Given the description of an element on the screen output the (x, y) to click on. 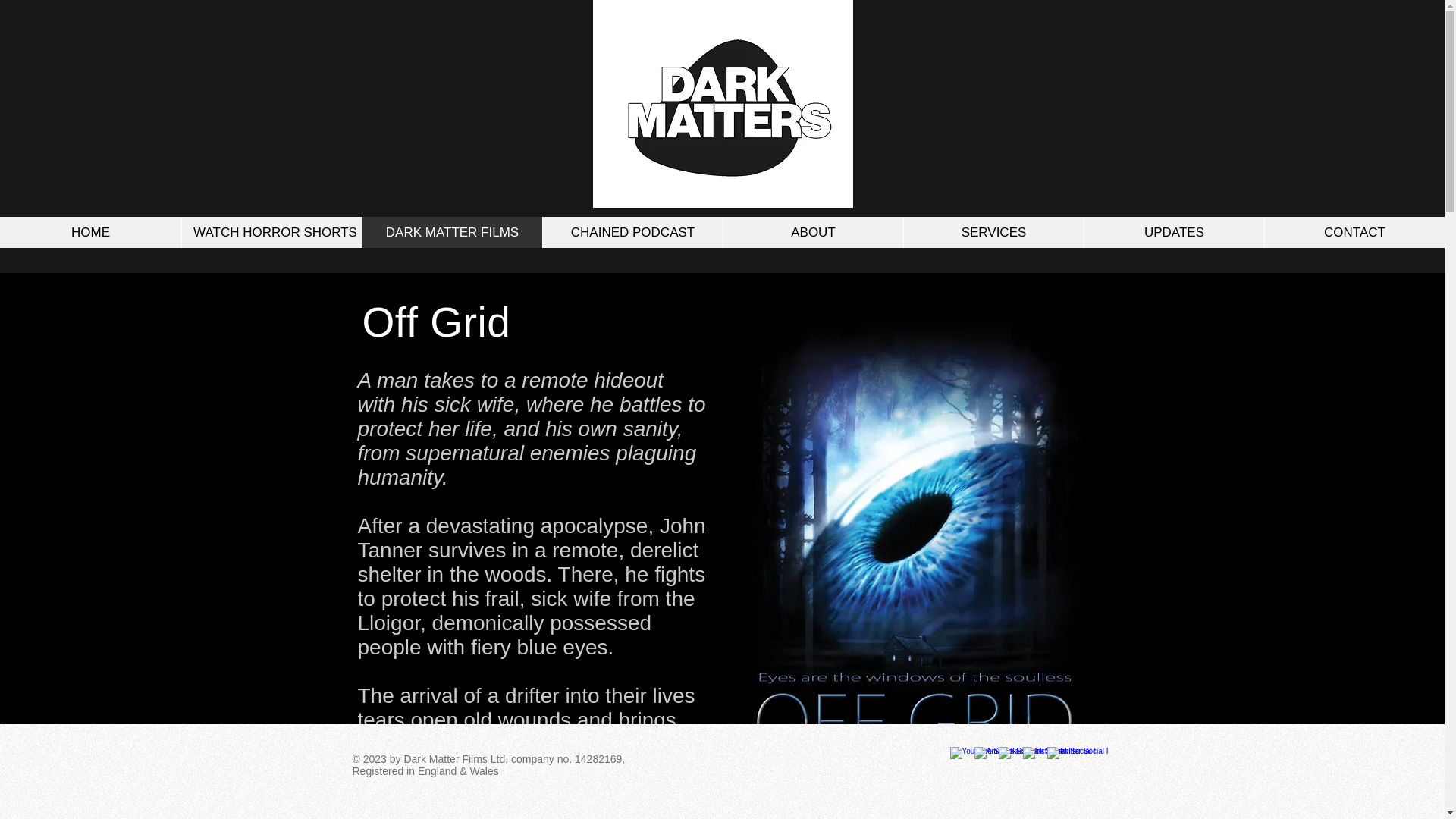
WATCH HORROR SHORTS (270, 232)
UPDATES (1173, 232)
ABOUT (812, 232)
DARK MATTER FILMS (451, 232)
CHAINED PODCAST (631, 232)
HOME (90, 232)
SERVICES (992, 232)
